Given the description of an element on the screen output the (x, y) to click on. 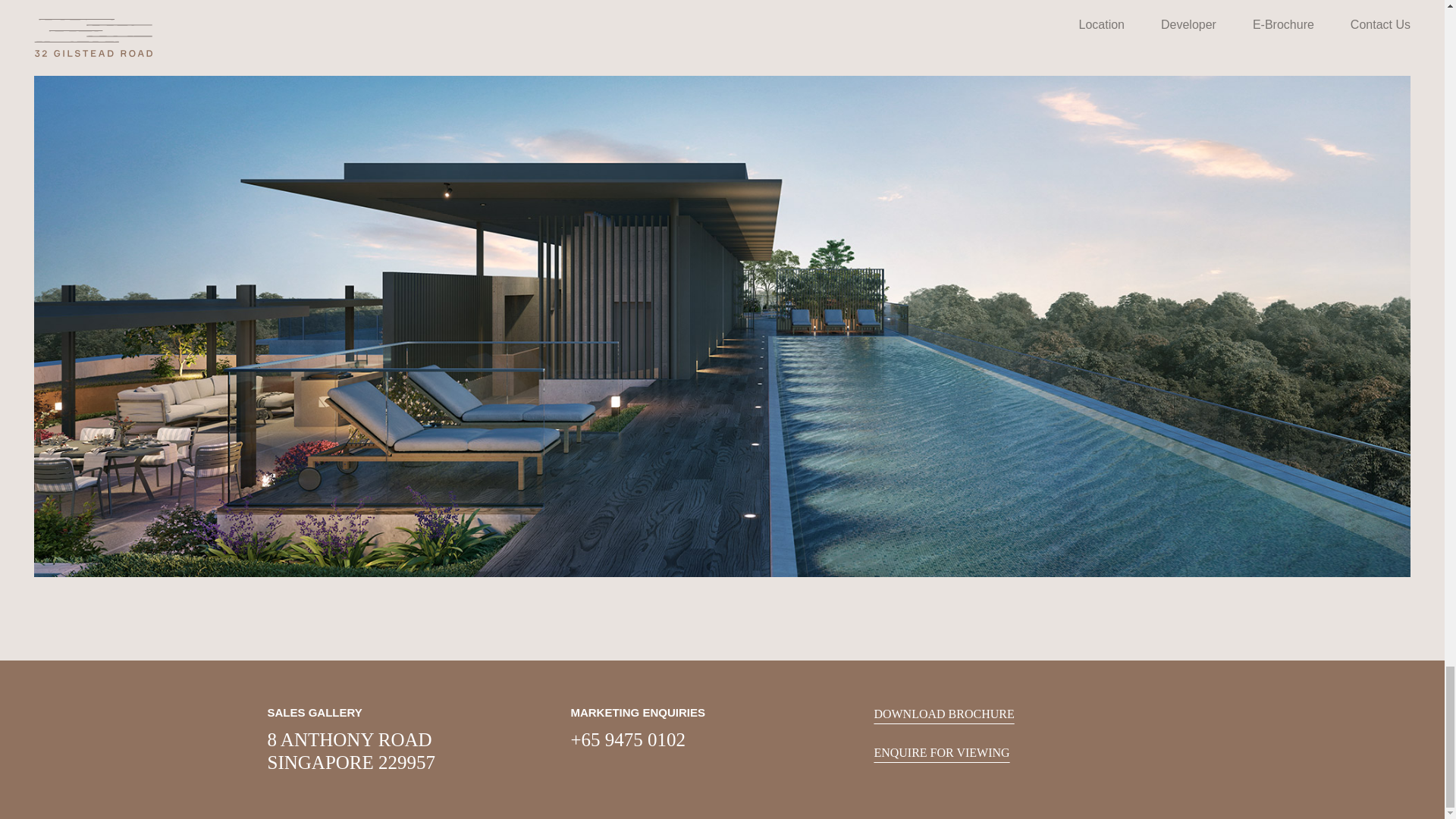
DOWNLOAD BROCHURE (943, 713)
ENQUIRE FOR VIEWING (941, 752)
